Given the description of an element on the screen output the (x, y) to click on. 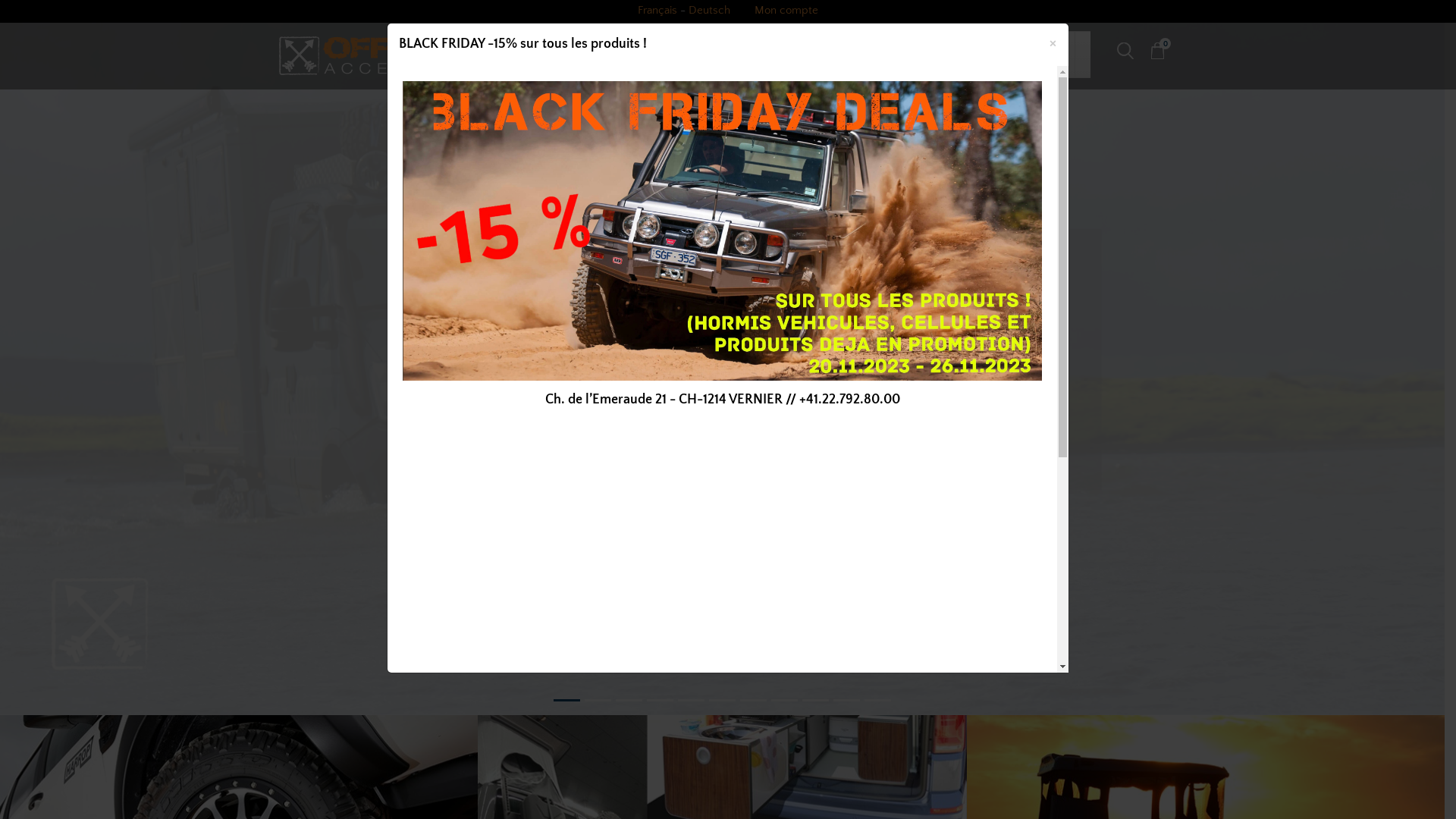
ACCUEIL Element type: text (567, 54)
Mon compte Element type: text (786, 9)
CAMPERS & CELLULES Element type: text (776, 54)
FACEBOOK Element type: text (1051, 54)
Deutsch Element type: text (709, 9)
  Element type: hover (722, 357)
NOS PRODUITS Element type: text (647, 54)
